Given the description of an element on the screen output the (x, y) to click on. 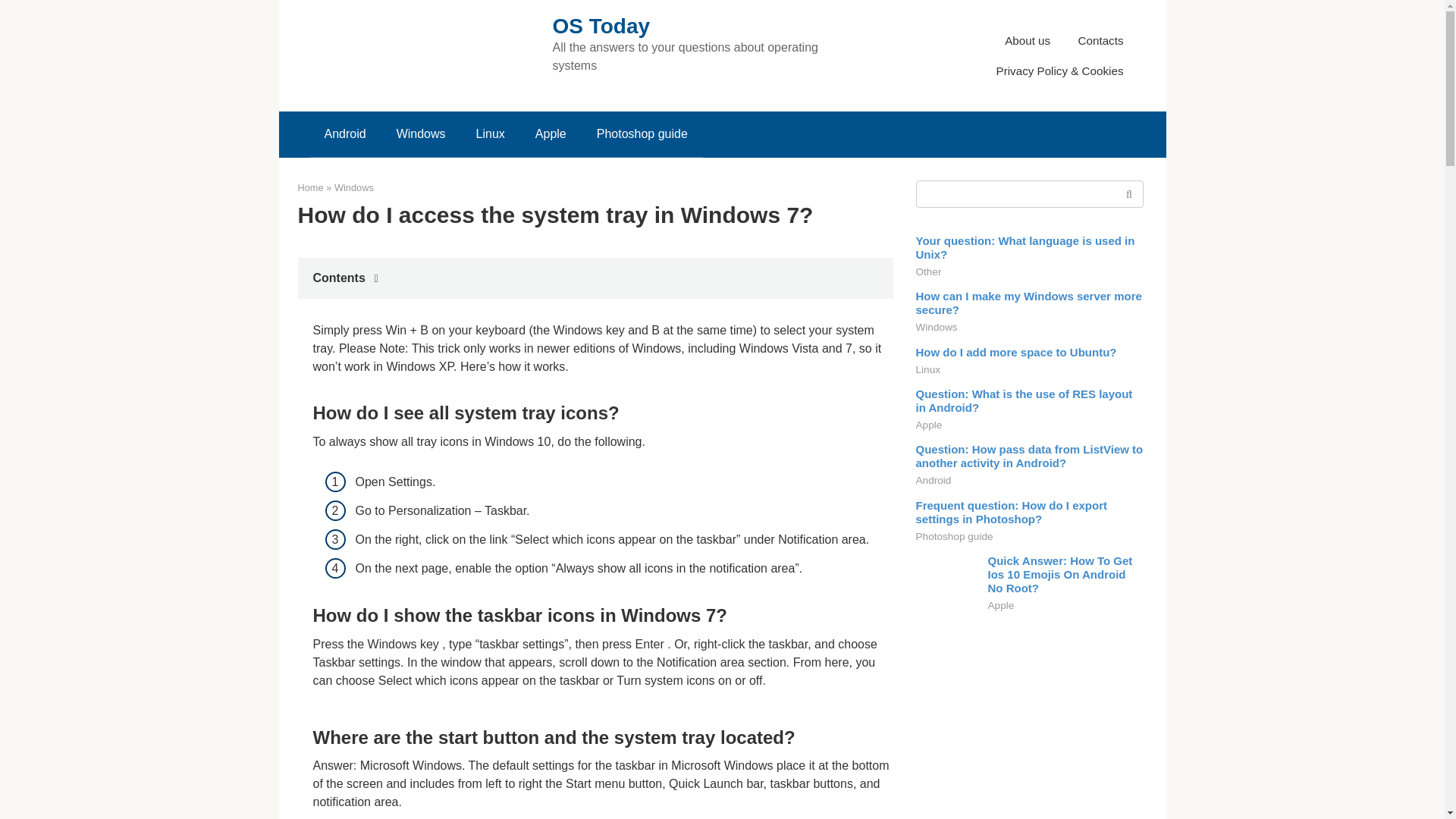
Windows (354, 187)
Photoshop guide (641, 134)
Android (344, 134)
Home (310, 187)
About us (1026, 39)
Windows (421, 134)
Apple (549, 134)
Contacts (1101, 39)
OS Today (600, 25)
